Given the description of an element on the screen output the (x, y) to click on. 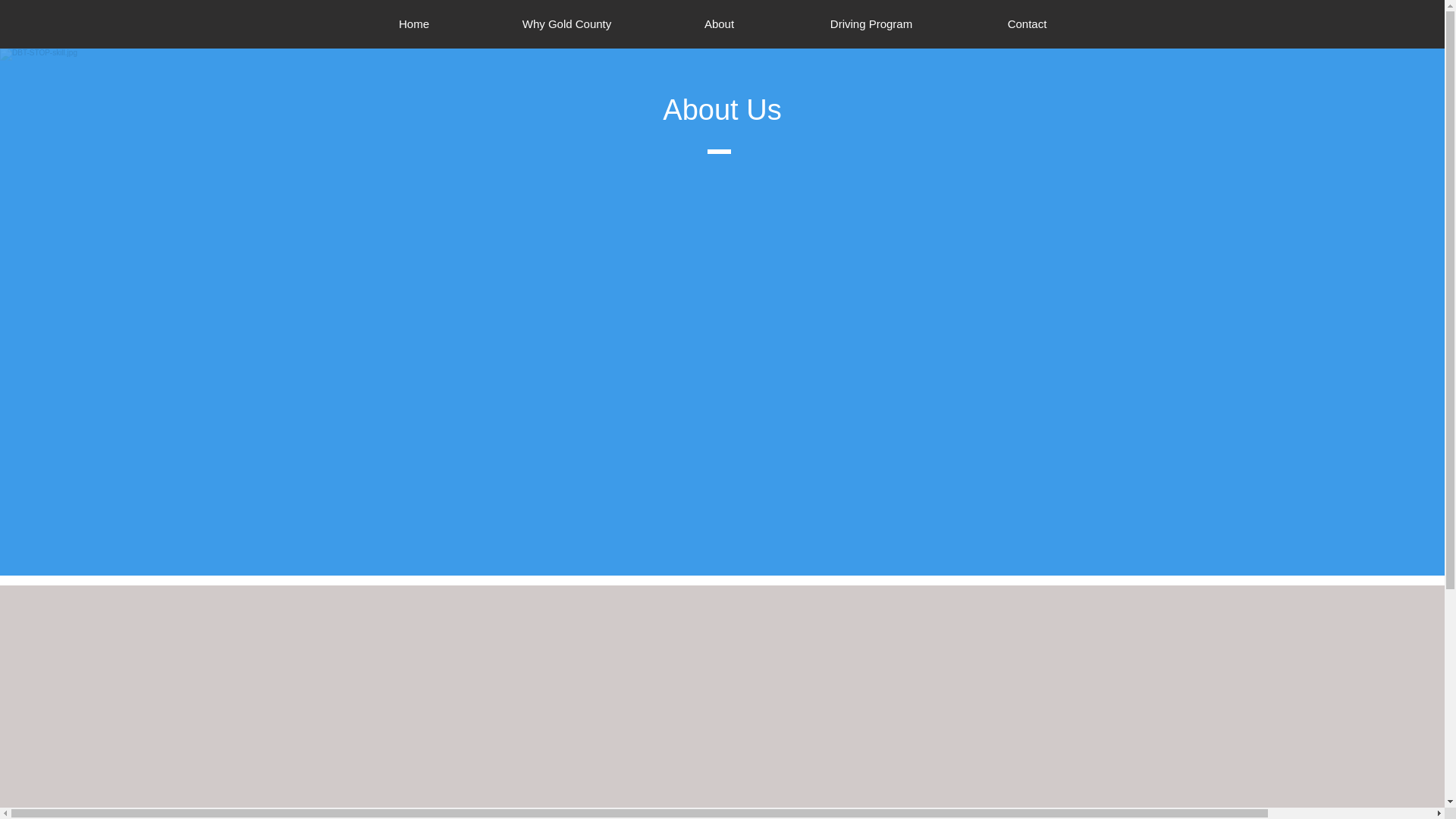
Why Gold County (566, 24)
About (719, 24)
Contact (1026, 24)
Home (413, 24)
Driving Program (871, 24)
